Given the description of an element on the screen output the (x, y) to click on. 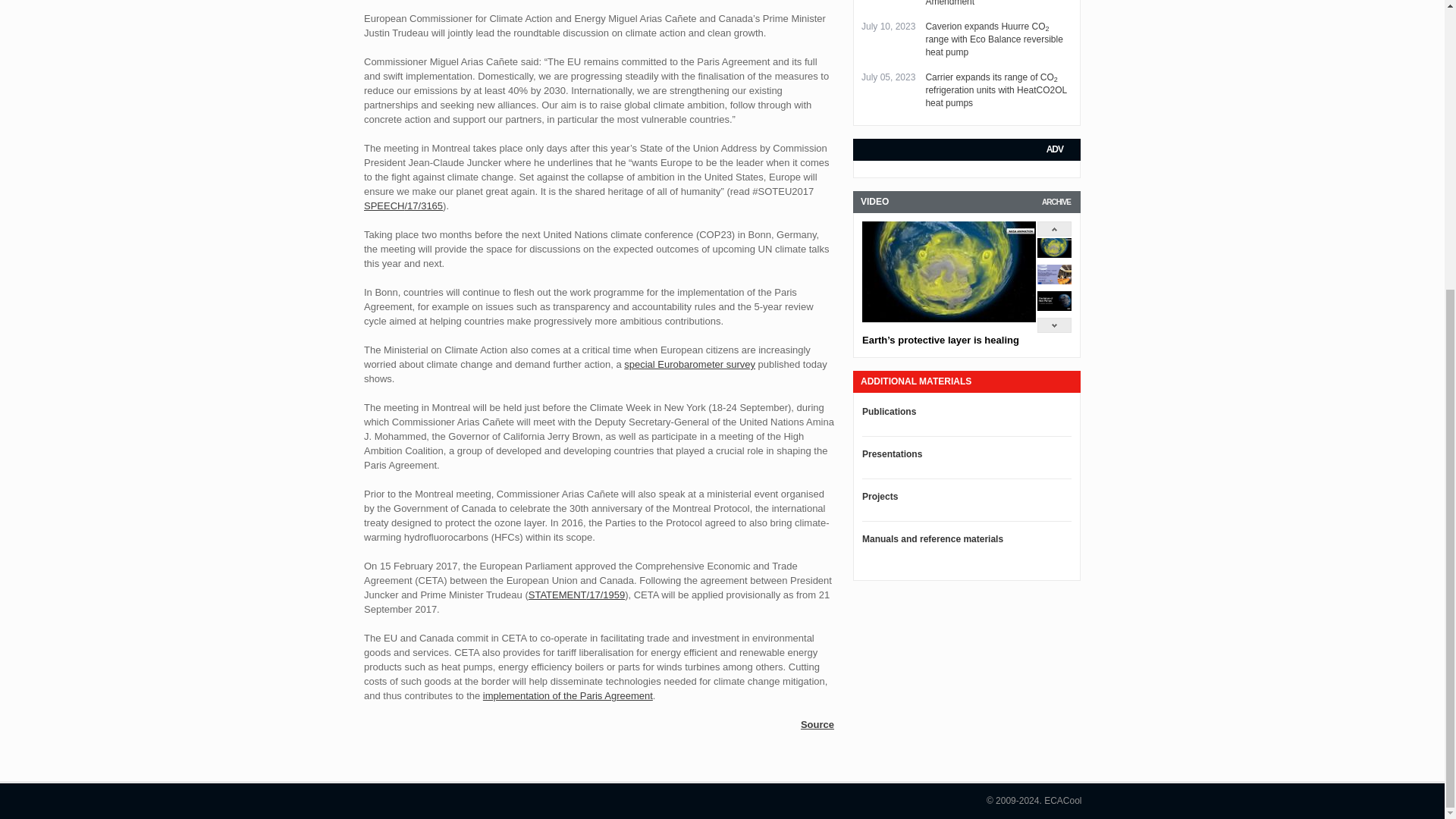
The future of heat pumps (1053, 307)
